Given the description of an element on the screen output the (x, y) to click on. 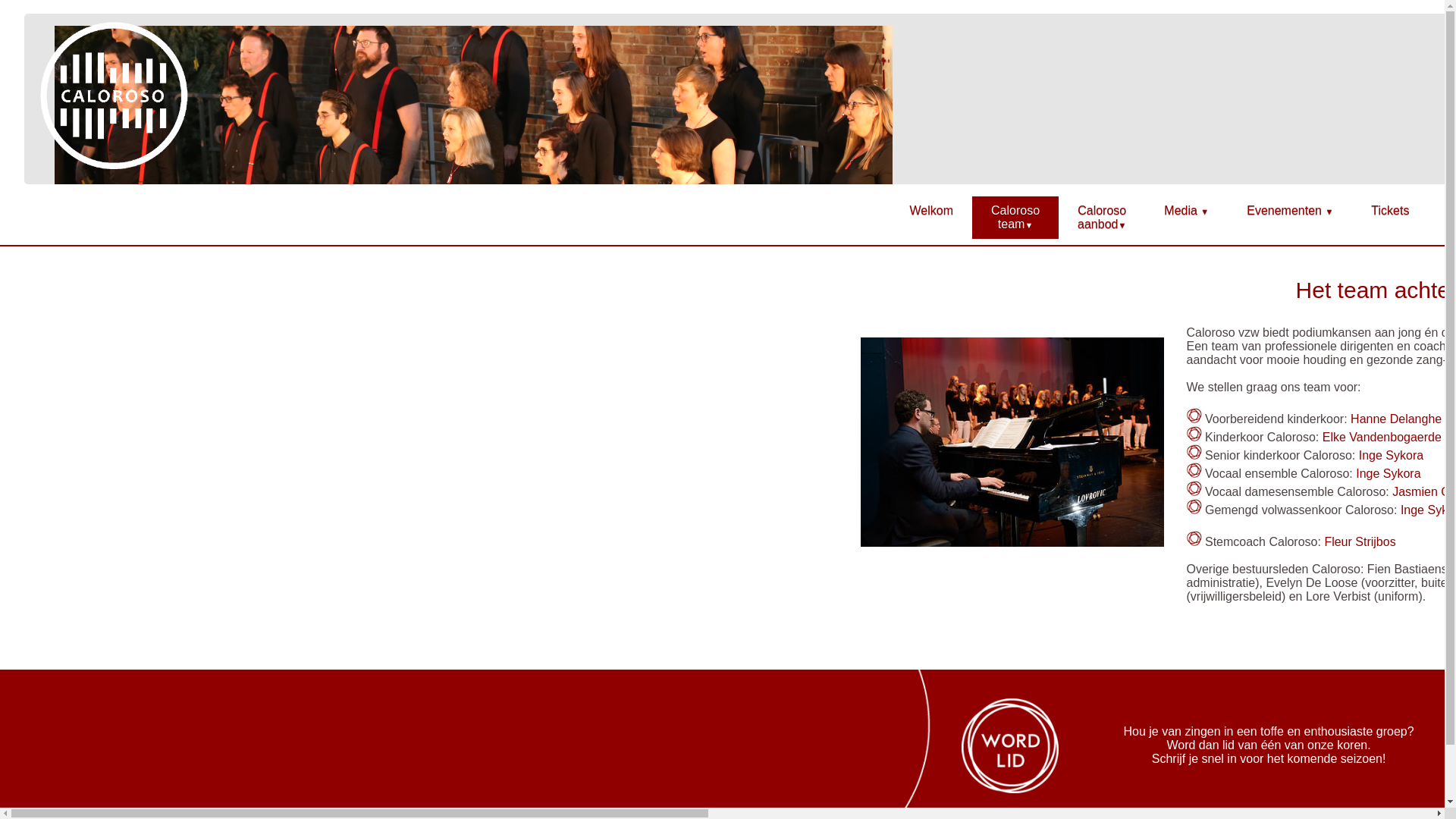
Tickets Element type: text (1389, 210)
Hanne Delanghe Element type: text (1395, 418)
Elke Vandenbogaerde Element type: text (1381, 436)
Inge Sykora Element type: text (1390, 454)
Welkom Element type: text (931, 210)
Inge Sykora Element type: text (1387, 473)
Fleur Strijbos Element type: text (1359, 541)
